Given the description of an element on the screen output the (x, y) to click on. 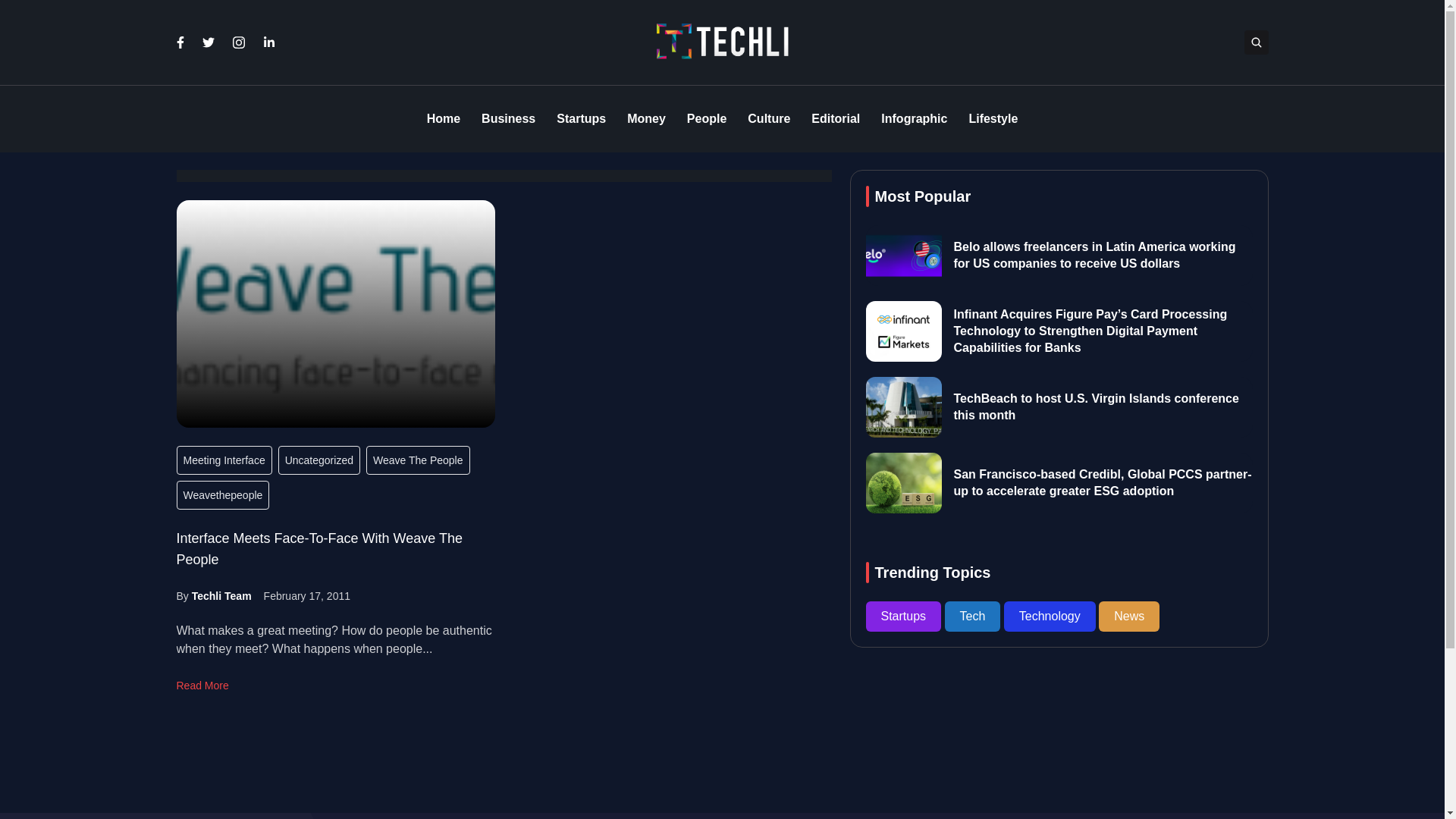
Interface Meets Face-To-Face With Weave The People (318, 549)
Lifestyle (992, 119)
Tech (974, 615)
Money (646, 119)
TechBeach to host U.S. Virgin Islands conference this month (1096, 407)
Home (443, 119)
Meeting Interface (223, 460)
Culture (769, 119)
Interface Meets Face-To-Face With Weave The People (335, 313)
Techli Team (221, 595)
Business (508, 119)
Read More (202, 685)
Startups (905, 615)
